Given the description of an element on the screen output the (x, y) to click on. 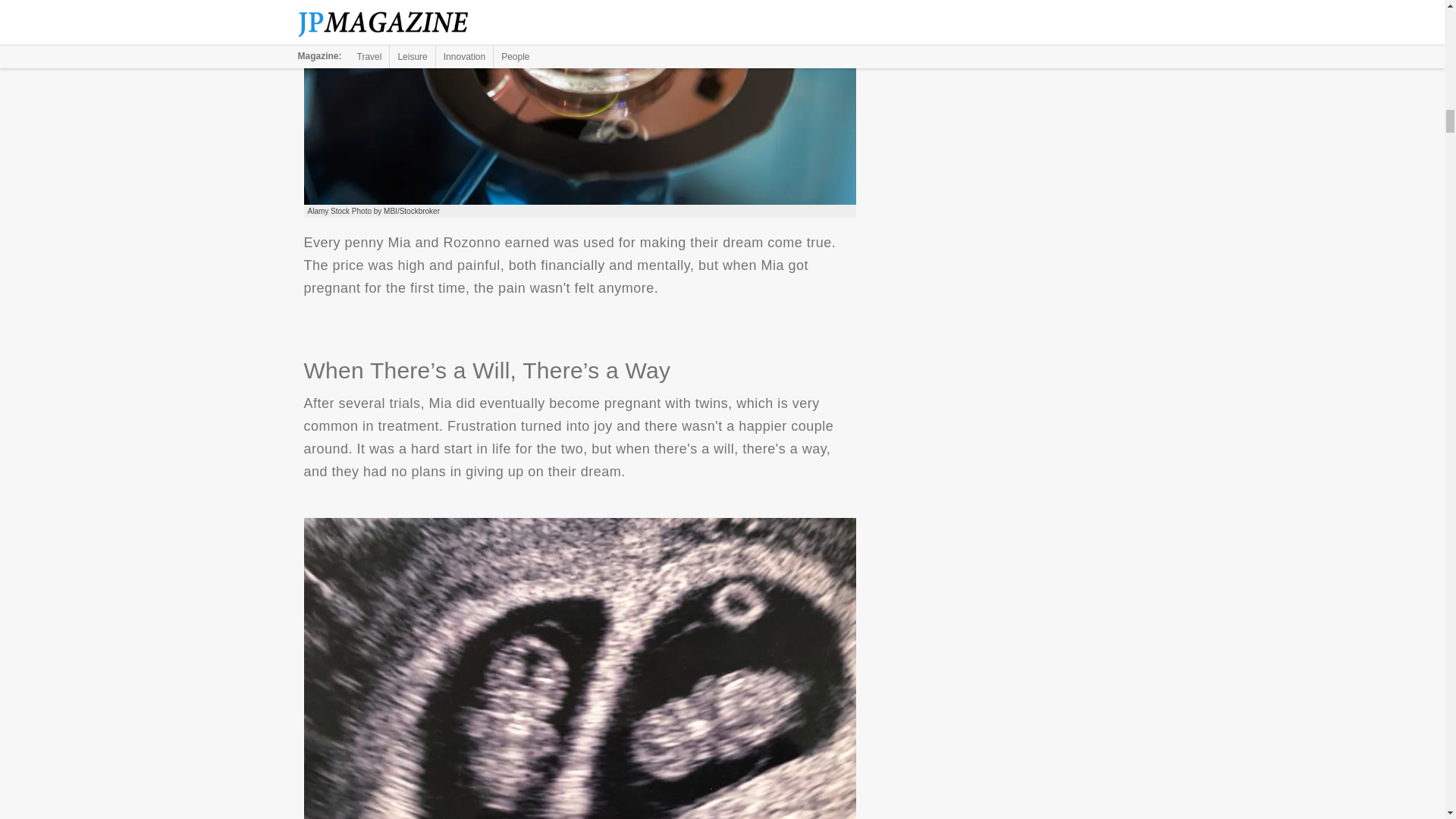
Thank You Modern Technology (579, 102)
